Given the description of an element on the screen output the (x, y) to click on. 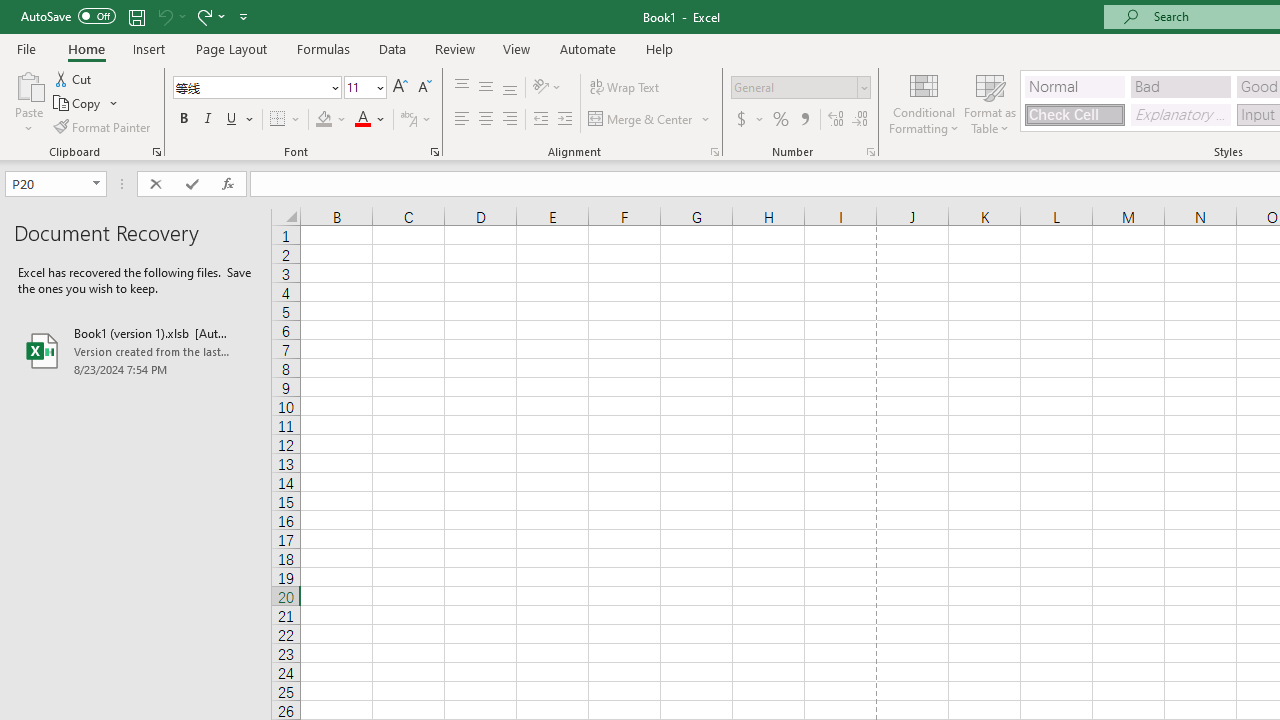
Number Format (794, 87)
Increase Font Size (399, 87)
Underline (232, 119)
Decrease Indent (540, 119)
Increase Decimal (836, 119)
Comma Style (804, 119)
Underline (239, 119)
Borders (285, 119)
Decrease Font Size (424, 87)
